Given the description of an element on the screen output the (x, y) to click on. 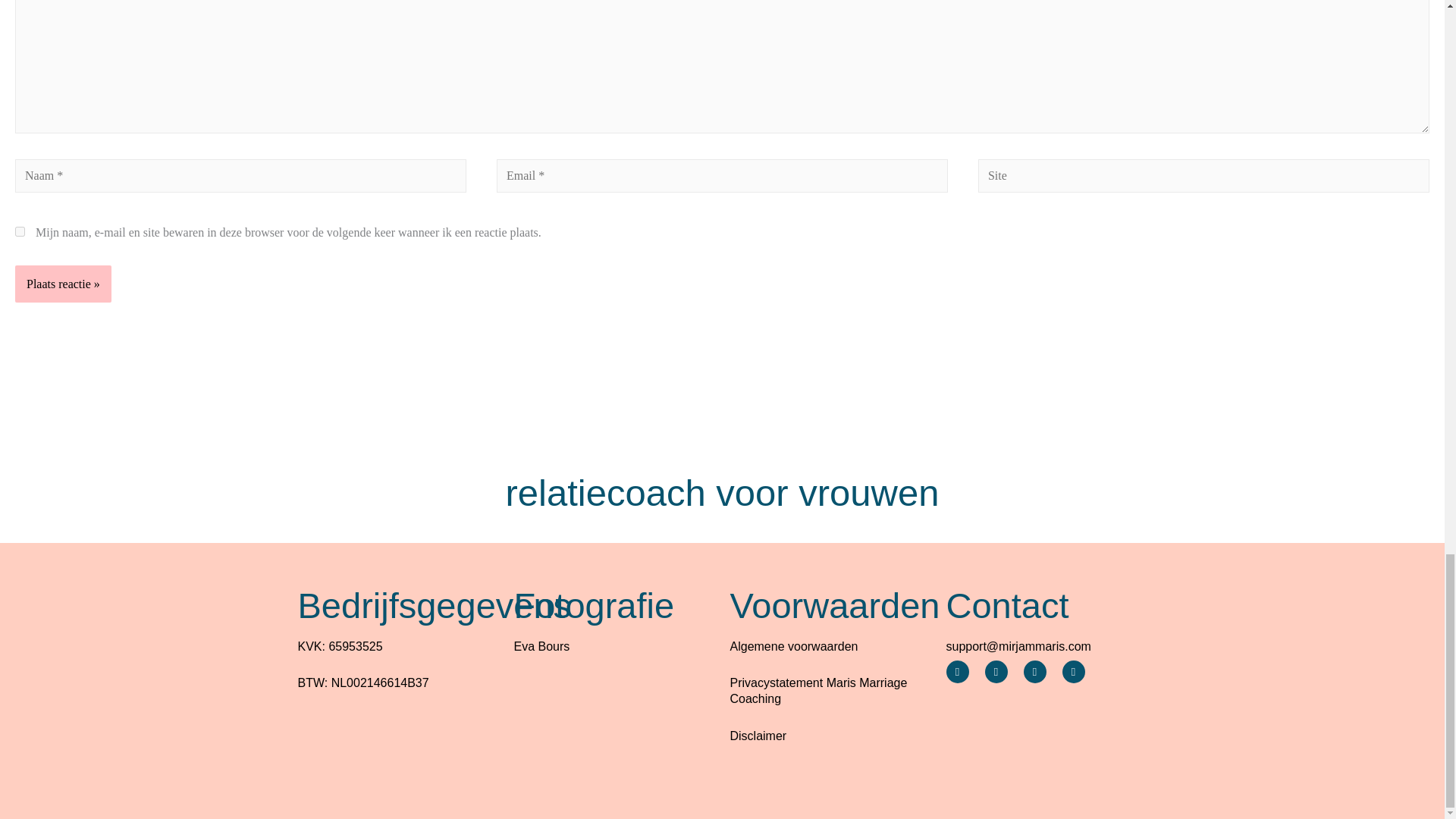
Privacystatement Maris Marriage Coaching (818, 690)
yes (19, 231)
relatiecoach voor vrouwen (722, 492)
Fotografie (594, 605)
Algemene voorwaarden (793, 645)
Voorwaarden (834, 605)
Contact (1007, 605)
Bedrijfsgegevens (433, 605)
